Given the description of an element on the screen output the (x, y) to click on. 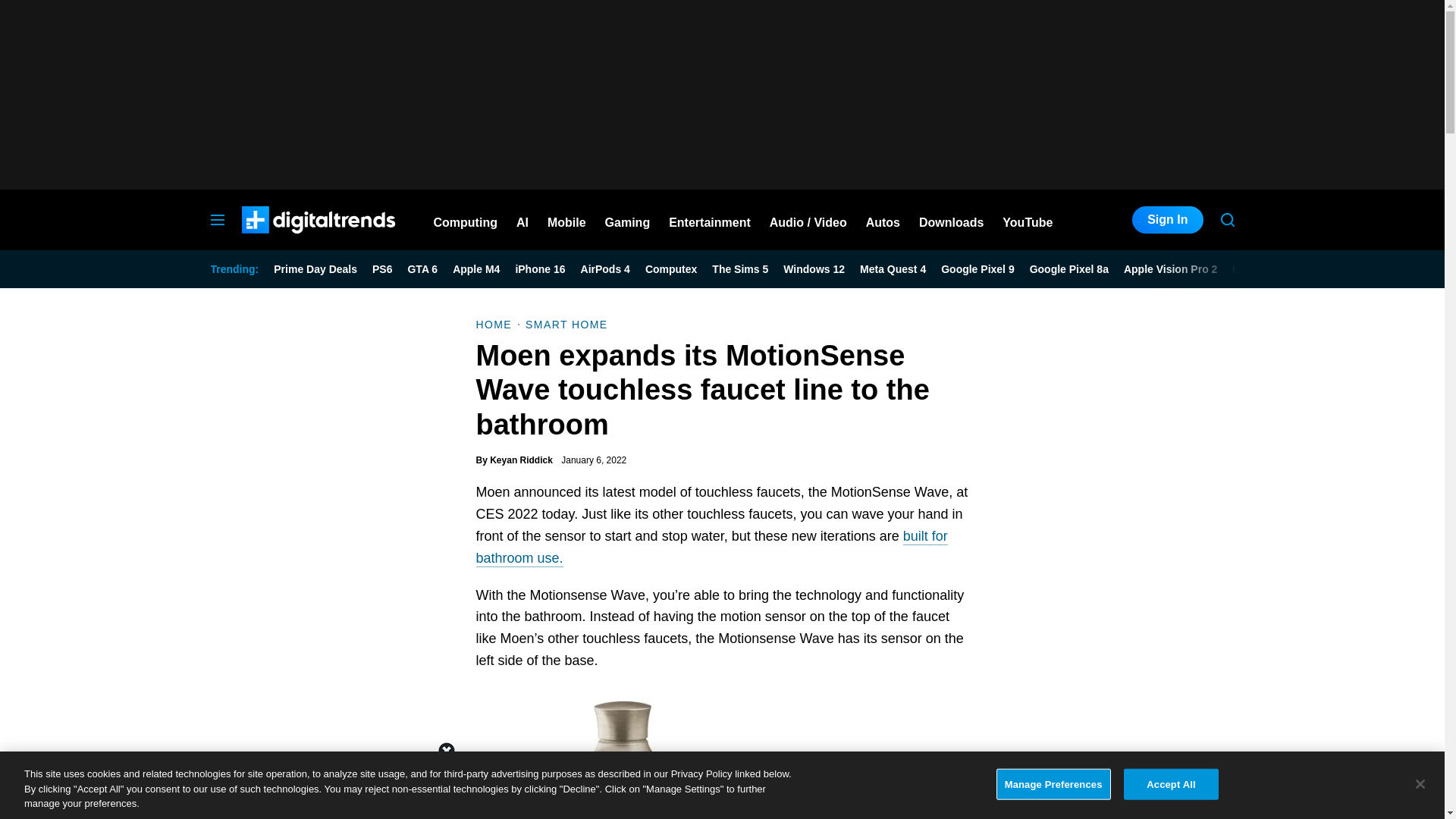
3rd party ad content (1120, 708)
3rd party ad content (721, 94)
3rd party ad content (721, 785)
Sign In (1167, 219)
Downloads (951, 219)
Computing (465, 219)
Entertainment (709, 219)
